Given the description of an element on the screen output the (x, y) to click on. 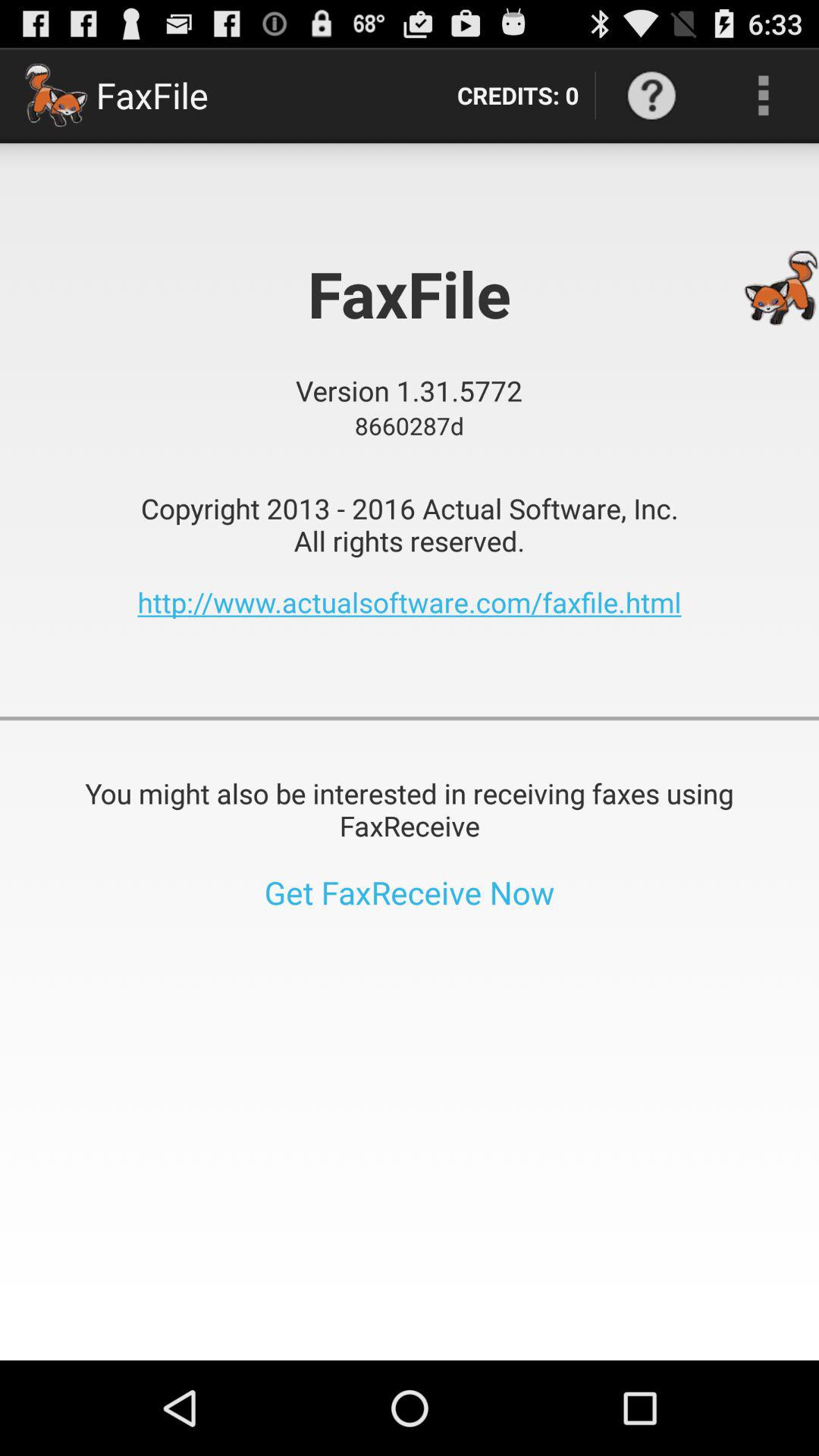
press the http www actualsoftware item (409, 602)
